Given the description of an element on the screen output the (x, y) to click on. 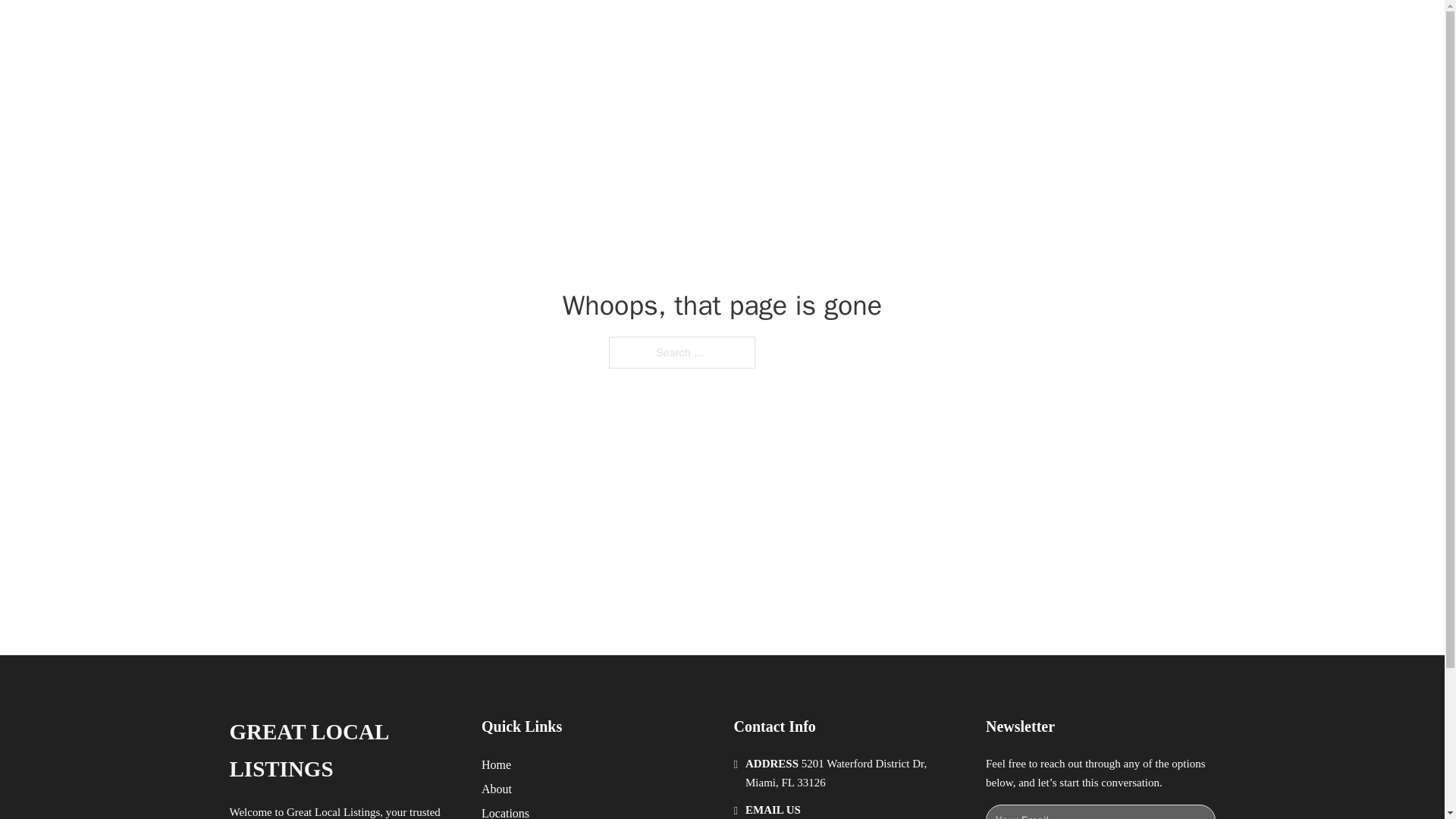
GREAT LOCAL LISTINGS (426, 28)
Locations (505, 811)
Home (496, 764)
About (496, 788)
GREAT LOCAL LISTINGS (343, 750)
